Given the description of an element on the screen output the (x, y) to click on. 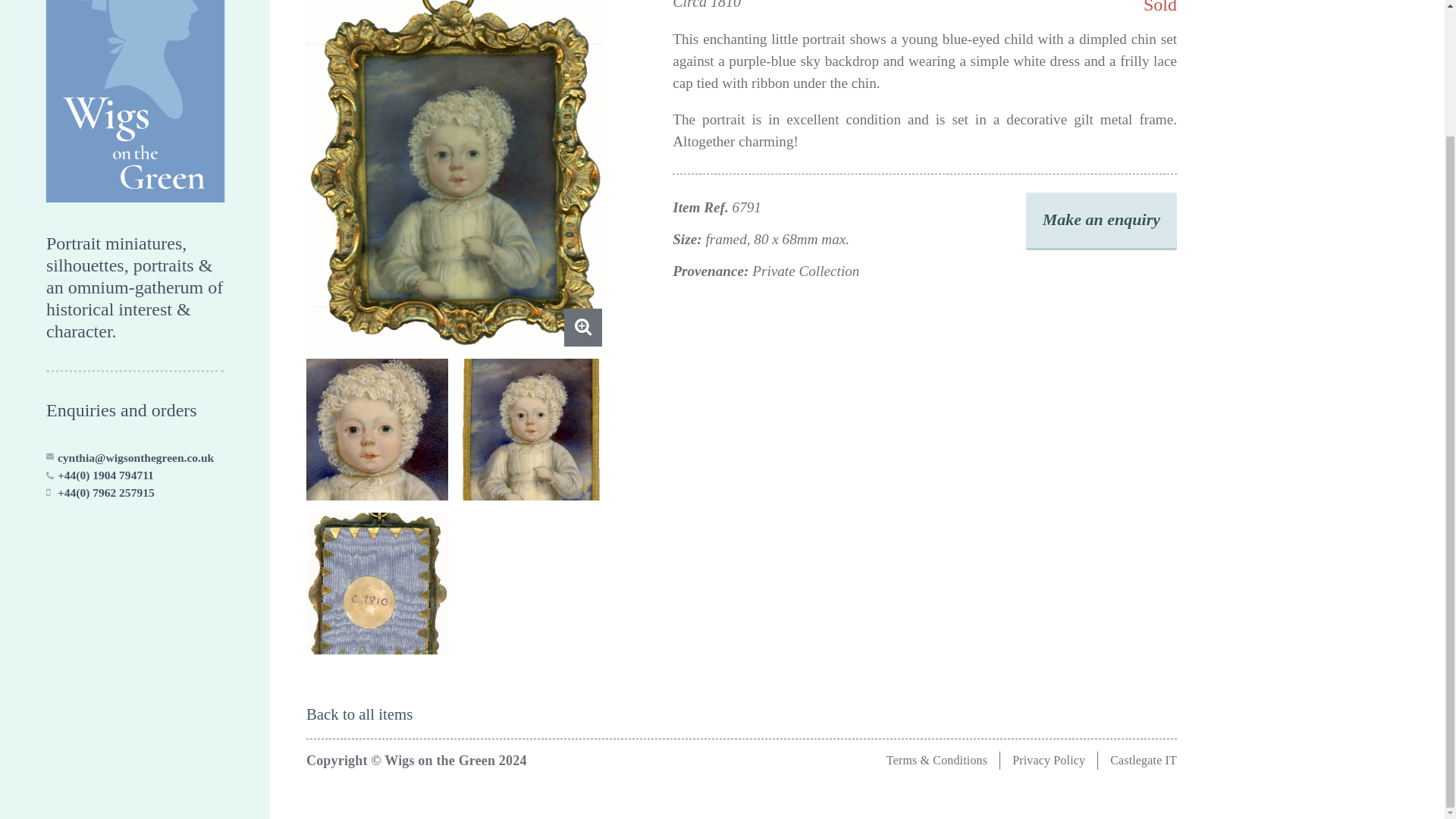
Privacy Policy (1047, 759)
Back to all items (358, 713)
Castlegate IT (1142, 759)
Make an enquiry (1101, 219)
